Given the description of an element on the screen output the (x, y) to click on. 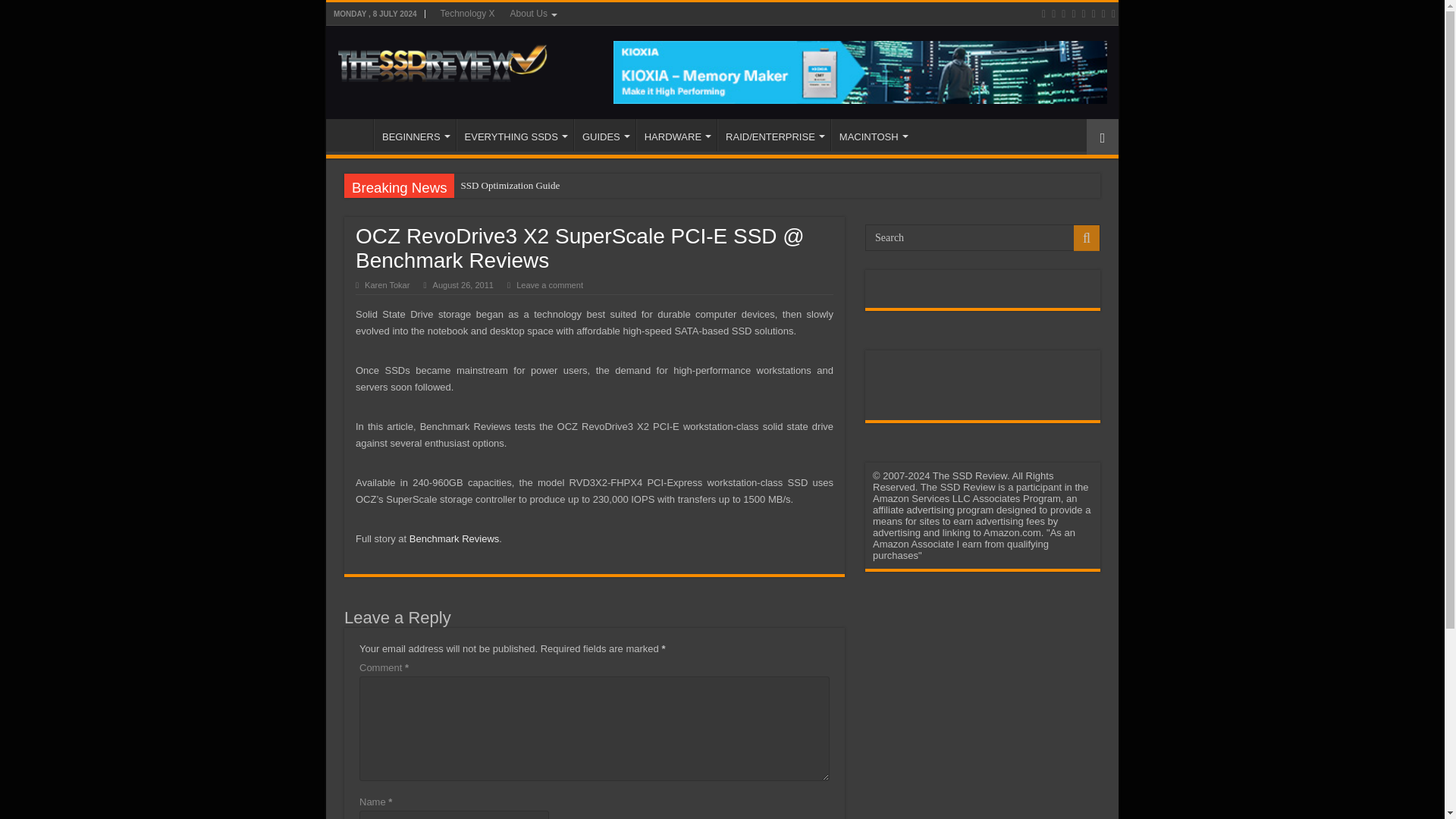
About Us (532, 13)
HOME (352, 134)
BEGINNERS (414, 134)
Search (982, 237)
Technology X (467, 13)
